Given the description of an element on the screen output the (x, y) to click on. 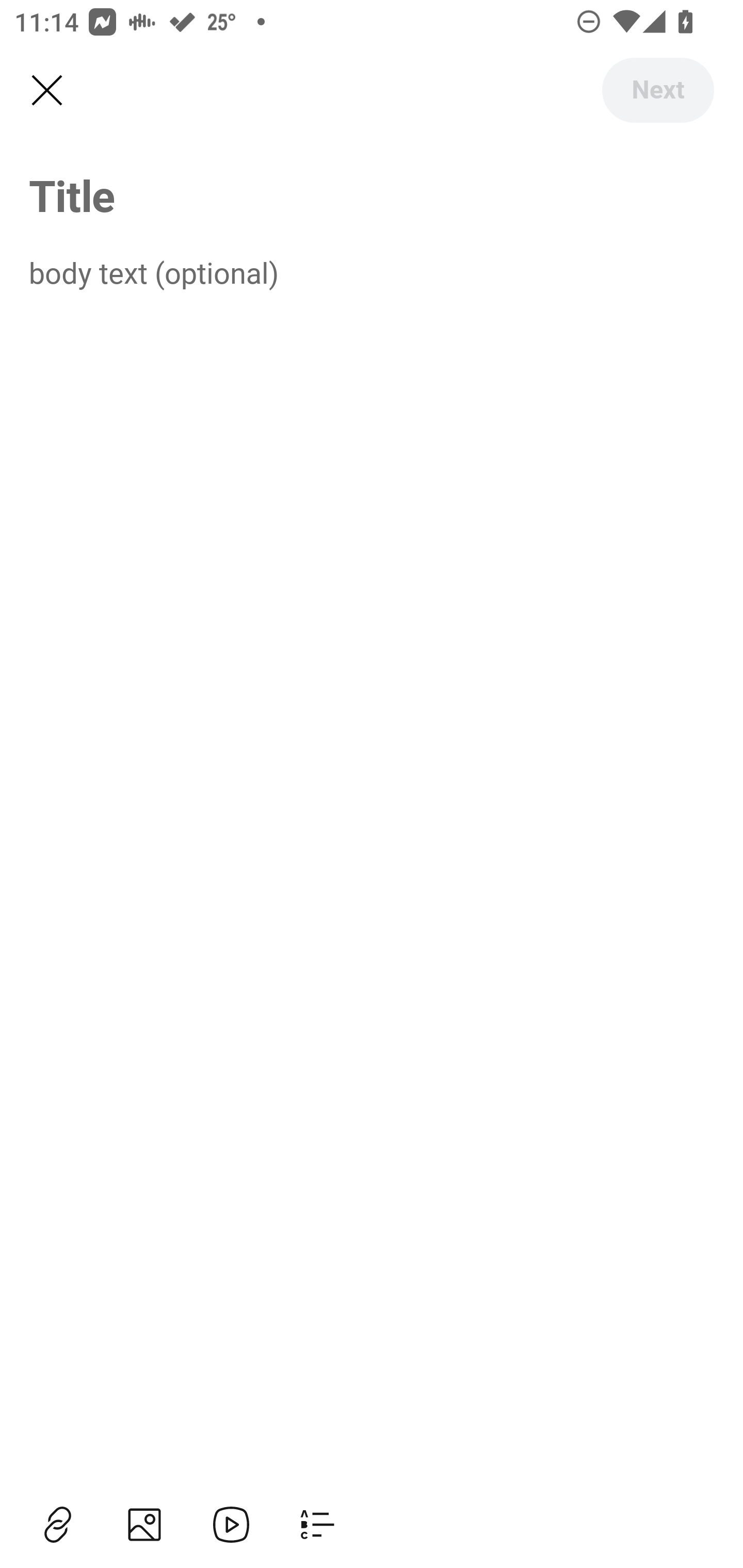
Close (46, 90)
Next (657, 90)
Post title (371, 195)
body text (optional) (371, 271)
